Given the description of an element on the screen output the (x, y) to click on. 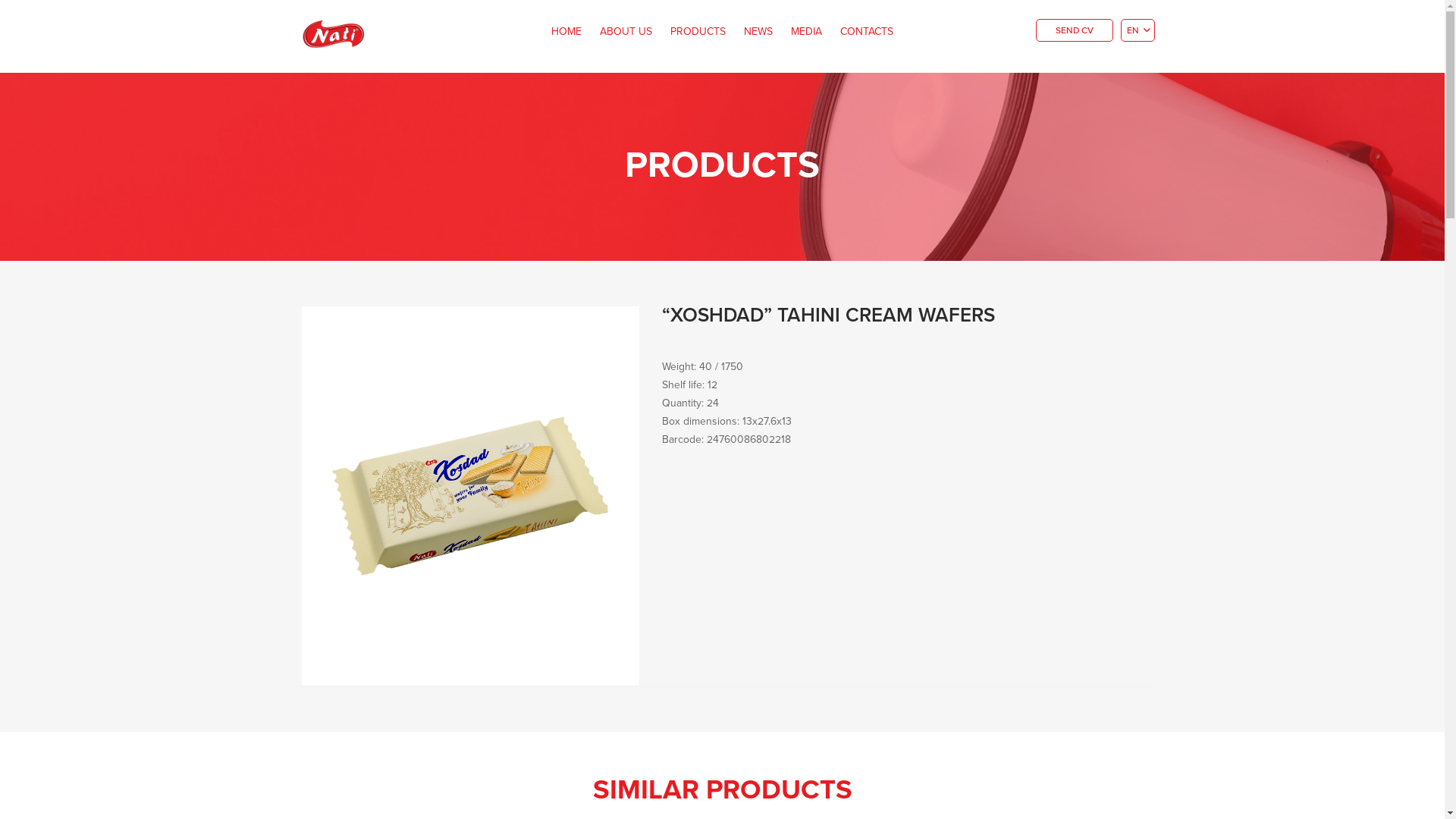
MEDIA Element type: text (806, 31)
SEND CV Element type: text (1074, 29)
PRODUCTS Element type: text (697, 31)
HOME Element type: text (566, 31)
NEWS Element type: text (758, 31)
CONTACTS Element type: text (866, 31)
ABOUT US Element type: text (625, 31)
